Given the description of an element on the screen output the (x, y) to click on. 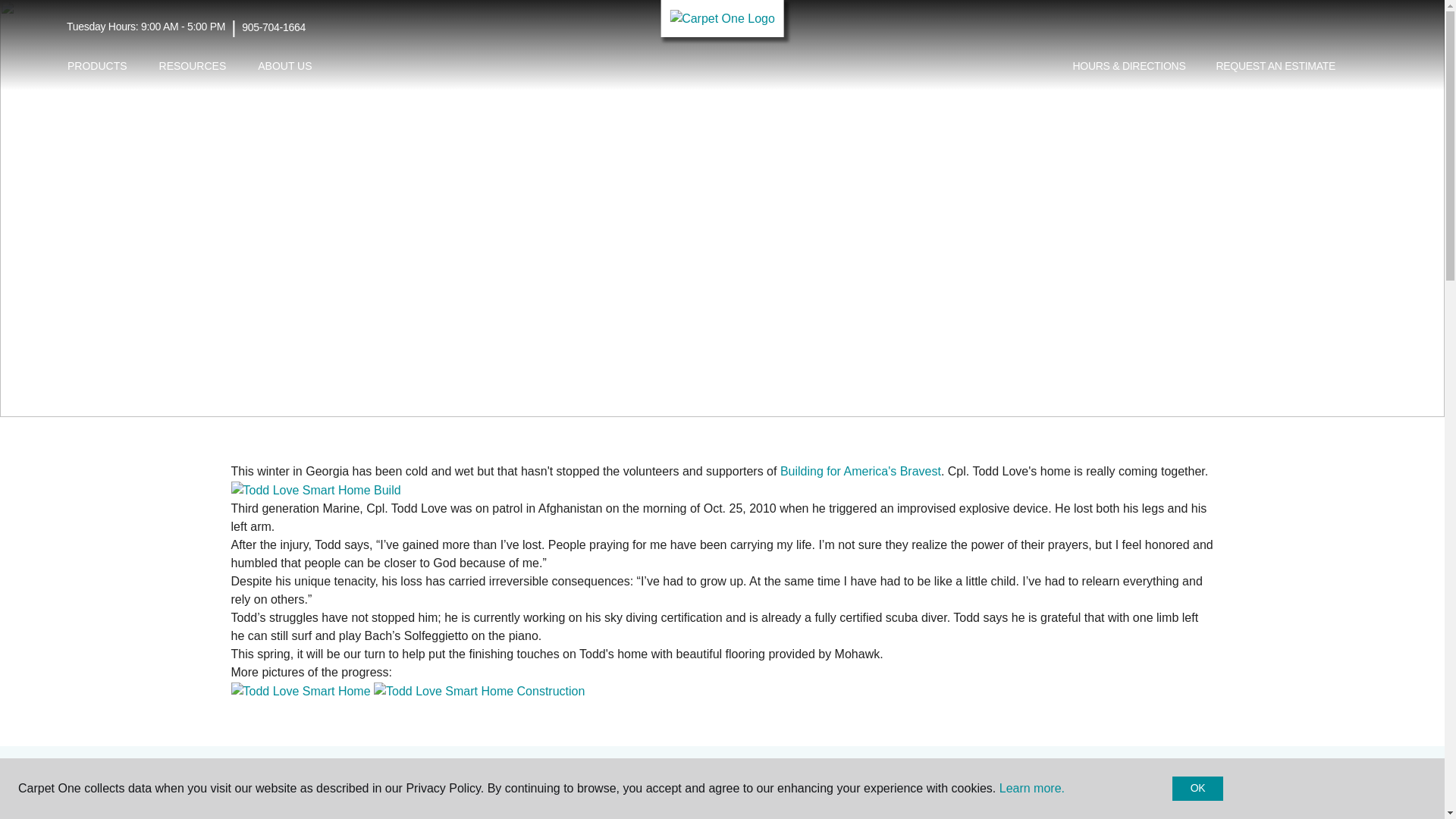
Todd Love Smart Home Build (315, 490)
ourbravest.org (860, 471)
PRODUCTS (97, 66)
RESOURCES (193, 66)
Todd Love Smart Home Construction (479, 691)
Todd Love Smart Home (299, 691)
ABOUT US (284, 66)
905-704-1664 (273, 27)
REQUEST AN ESTIMATE (1276, 66)
